Given the description of an element on the screen output the (x, y) to click on. 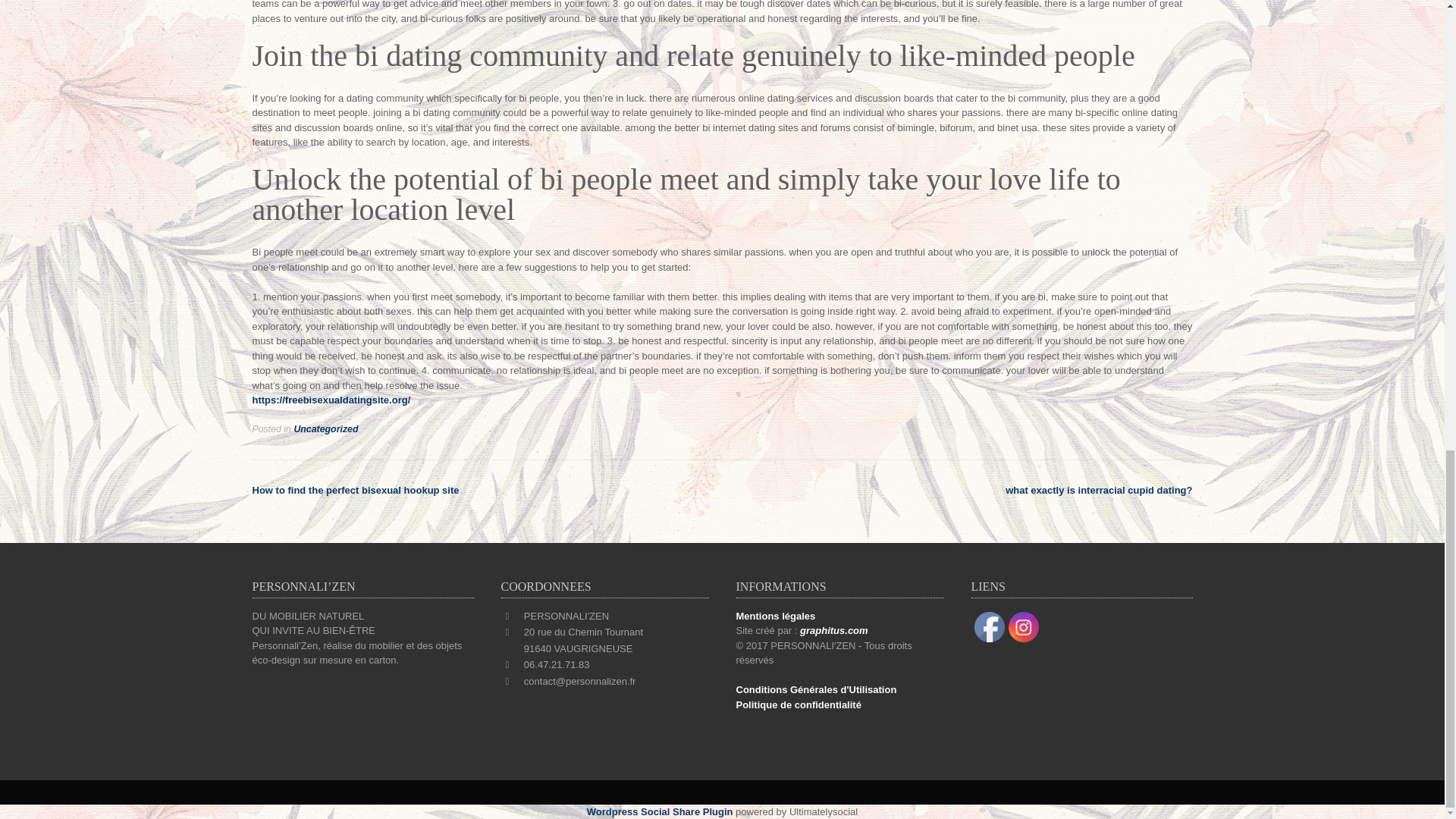
Facebook (989, 626)
Uncategorized (326, 429)
How to find the perfect bisexual hookup site (354, 490)
graphitus.com (833, 630)
Wordpress Social Share Plugin (660, 811)
Instagram (1024, 626)
what exactly is interracial cupid dating? (1099, 490)
